Given the description of an element on the screen output the (x, y) to click on. 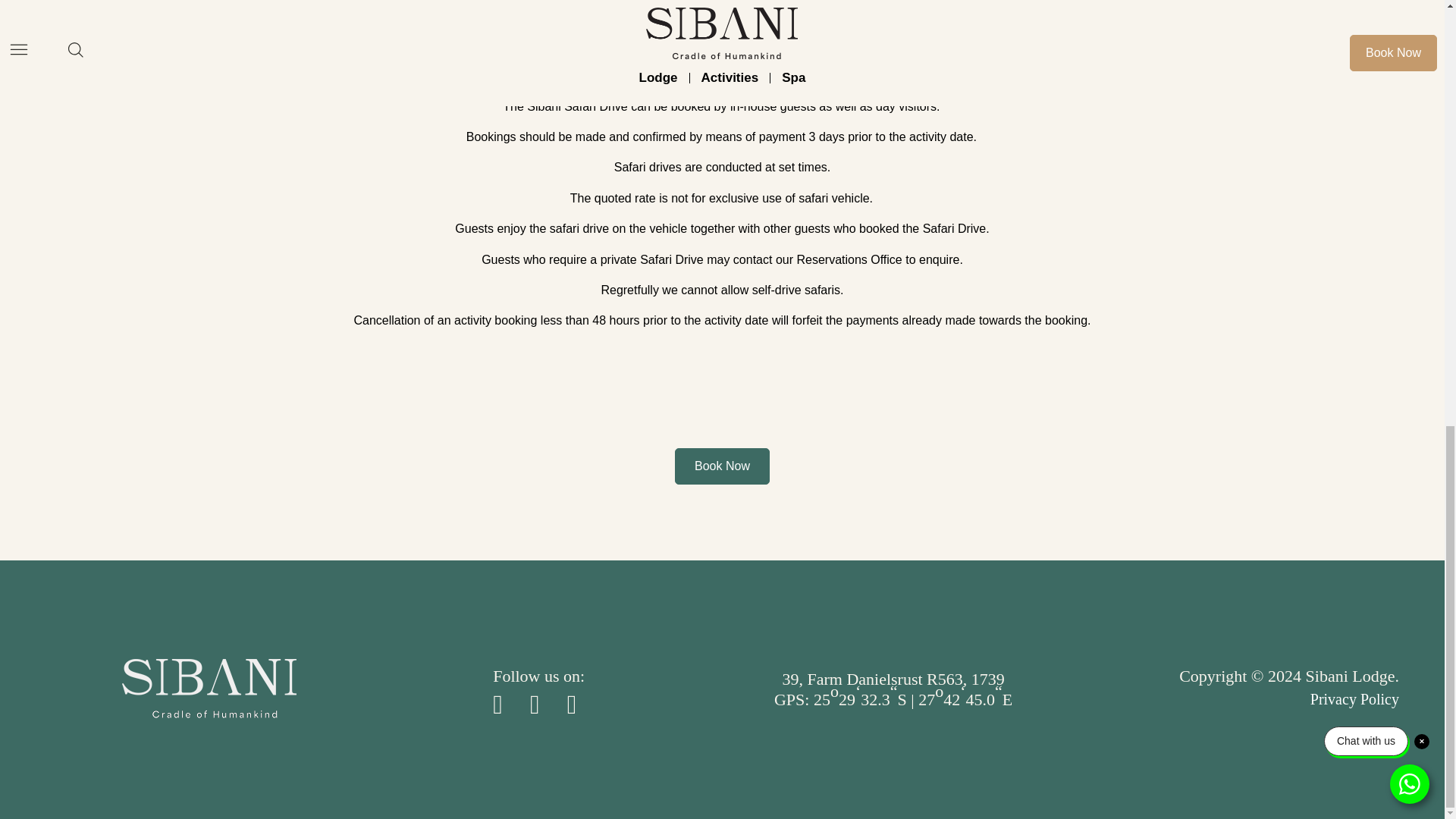
Book Now (722, 465)
